Given the description of an element on the screen output the (x, y) to click on. 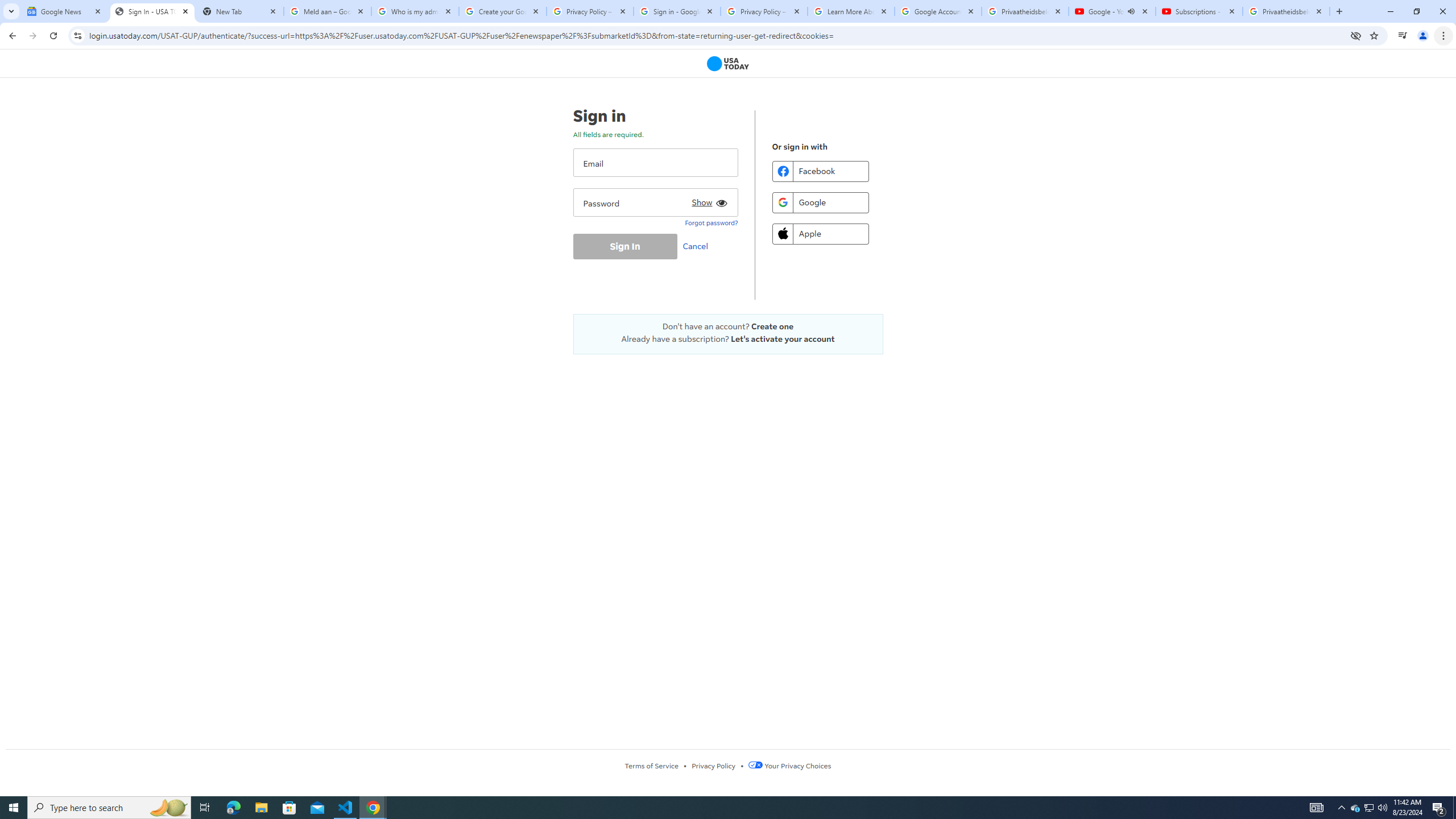
Google Account (938, 11)
Subscriptions - YouTube (1198, 11)
Account Username (655, 162)
Google News (64, 11)
Apple (820, 233)
